Given the description of an element on the screen output the (x, y) to click on. 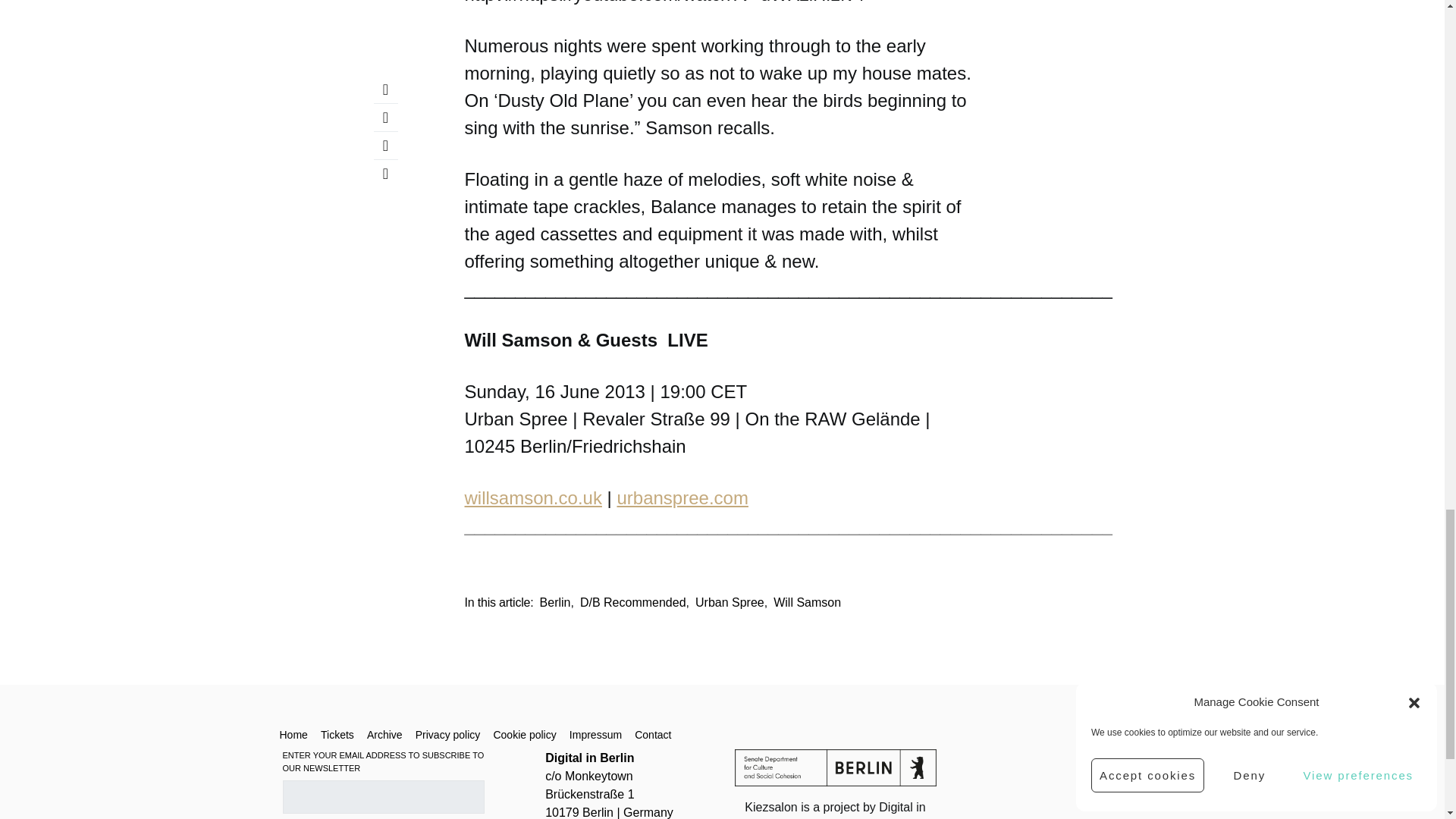
Please enter a valid email address (382, 797)
